Given the description of an element on the screen output the (x, y) to click on. 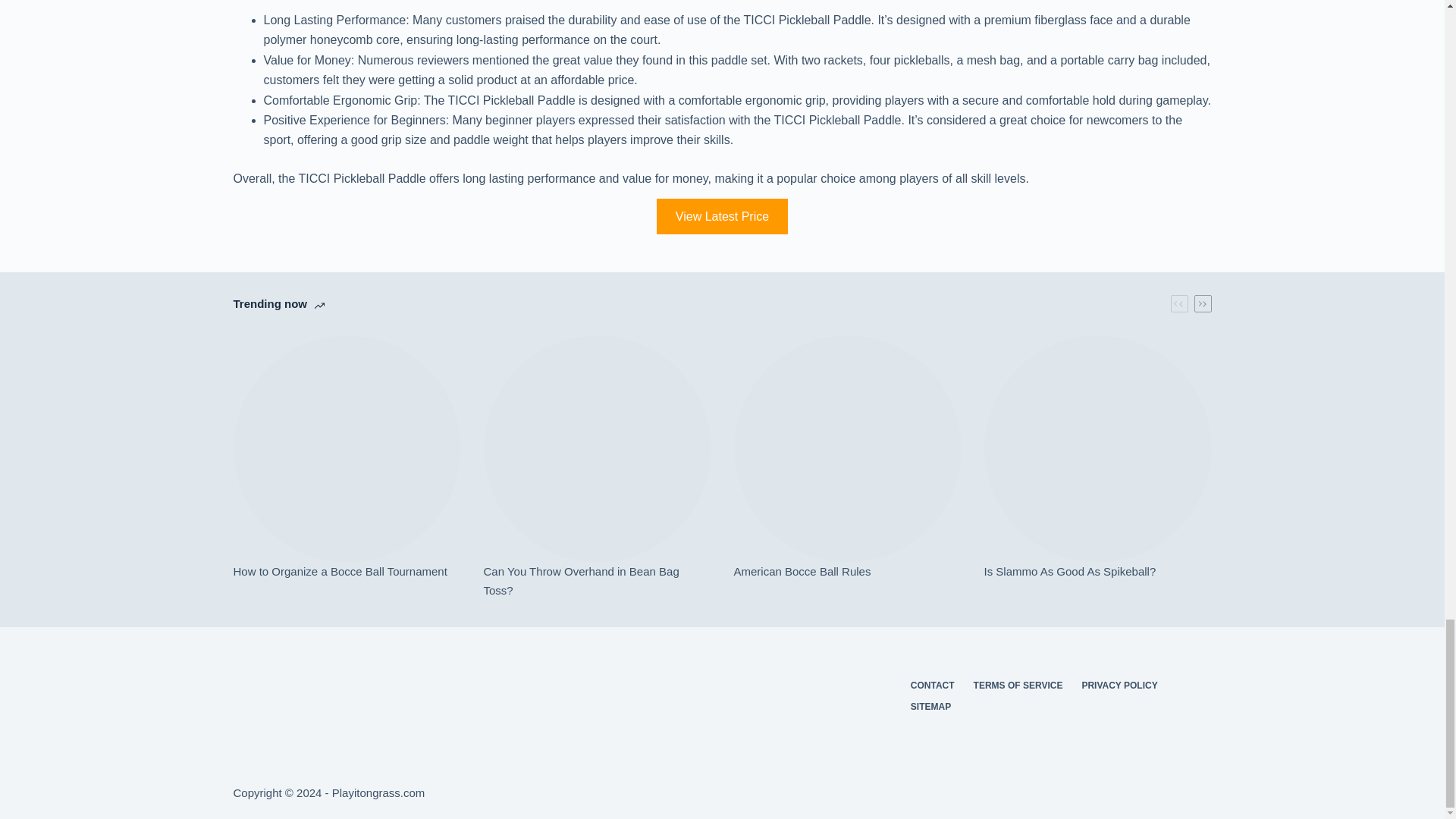
Can You Throw Overhand in Bean Bag Toss? (597, 581)
Is Slammo As Good As Spikeball? (1097, 571)
View Latest Price (721, 216)
American Bocce Ball Rules (846, 571)
CONTACT (932, 686)
PRIVACY POLICY (1119, 686)
TERMS OF SERVICE (1017, 686)
SITEMAP (930, 707)
How to Organize a Bocce Ball Tournament (346, 571)
